Given the description of an element on the screen output the (x, y) to click on. 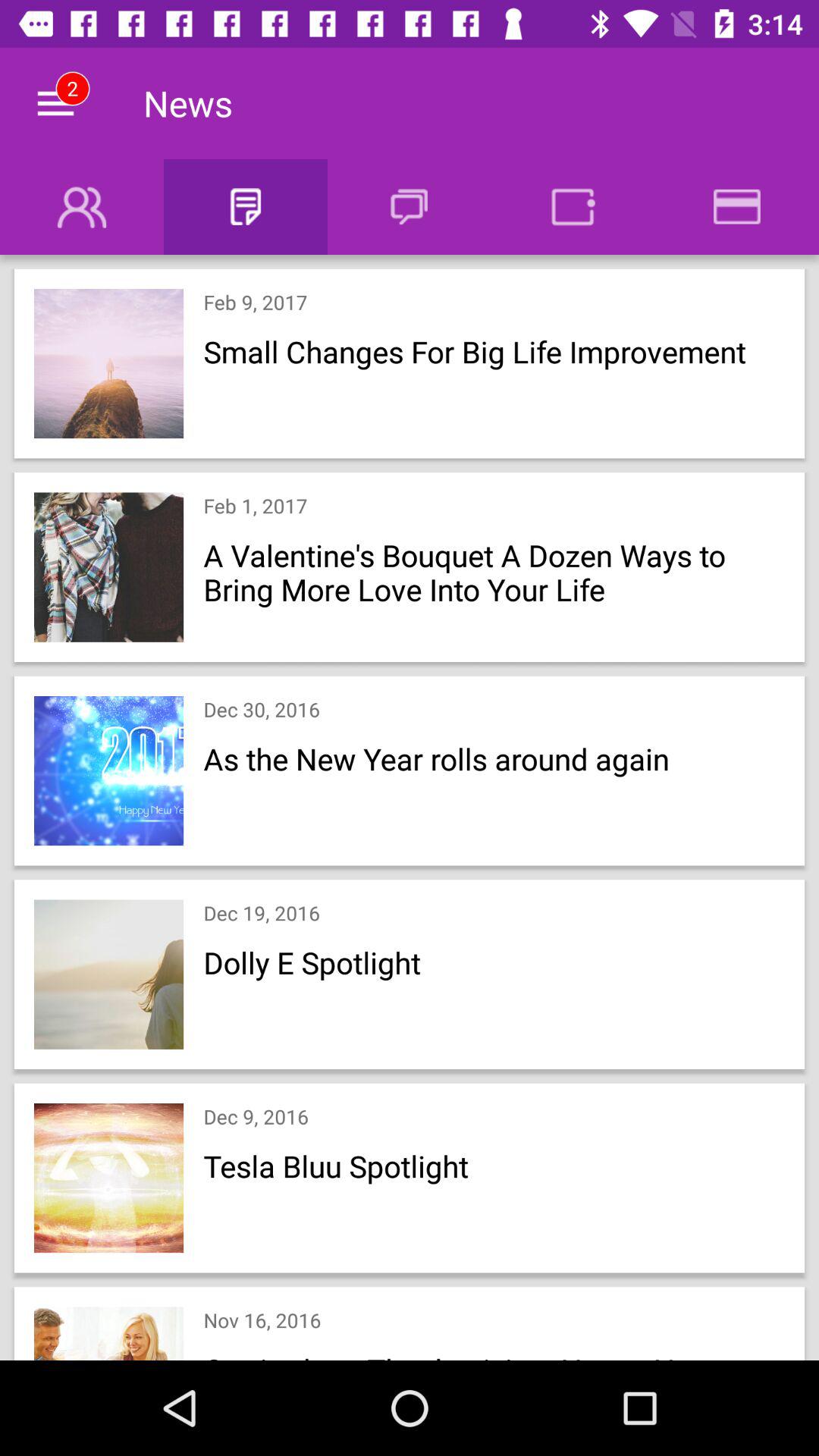
launch the icon to the left of the news (55, 103)
